Given the description of an element on the screen output the (x, y) to click on. 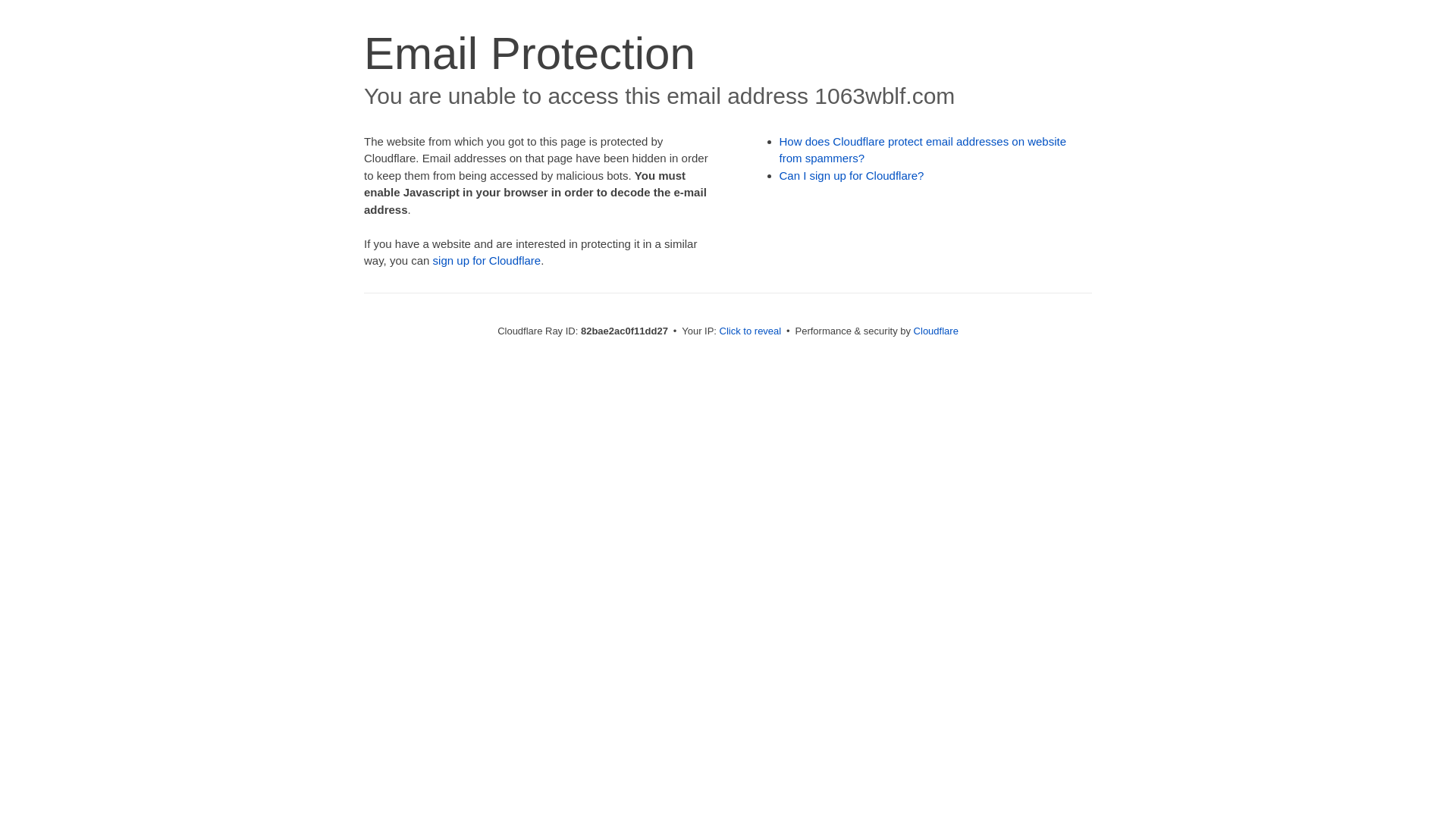
Can I sign up for Cloudflare? Element type: text (851, 175)
Click to reveal Element type: text (750, 330)
sign up for Cloudflare Element type: text (487, 260)
Cloudflare Element type: text (935, 330)
